Given the description of an element on the screen output the (x, y) to click on. 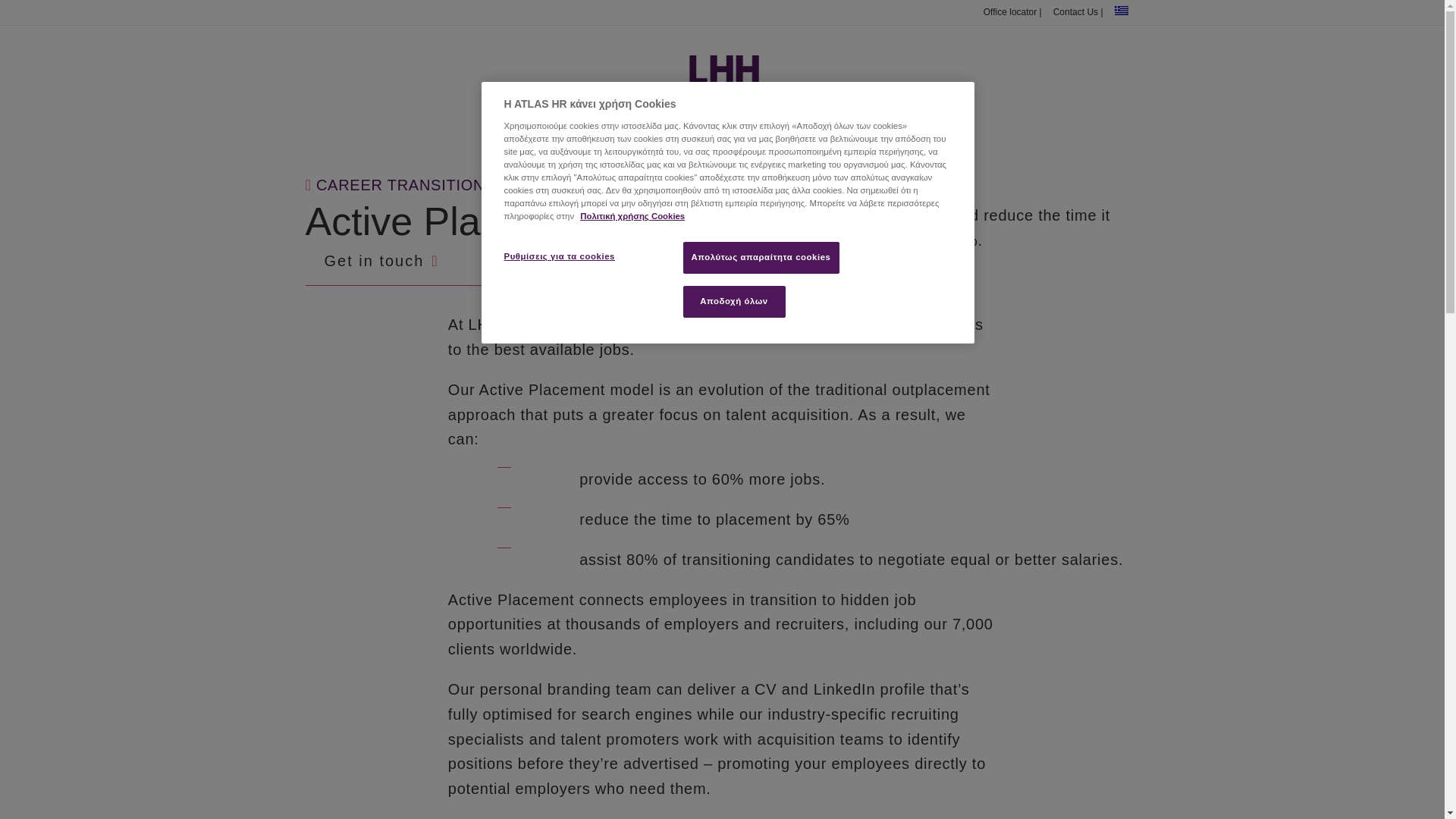
Your challenges (716, 139)
Our services (526, 139)
Referred by your employer (854, 139)
About us (617, 139)
